Given the description of an element on the screen output the (x, y) to click on. 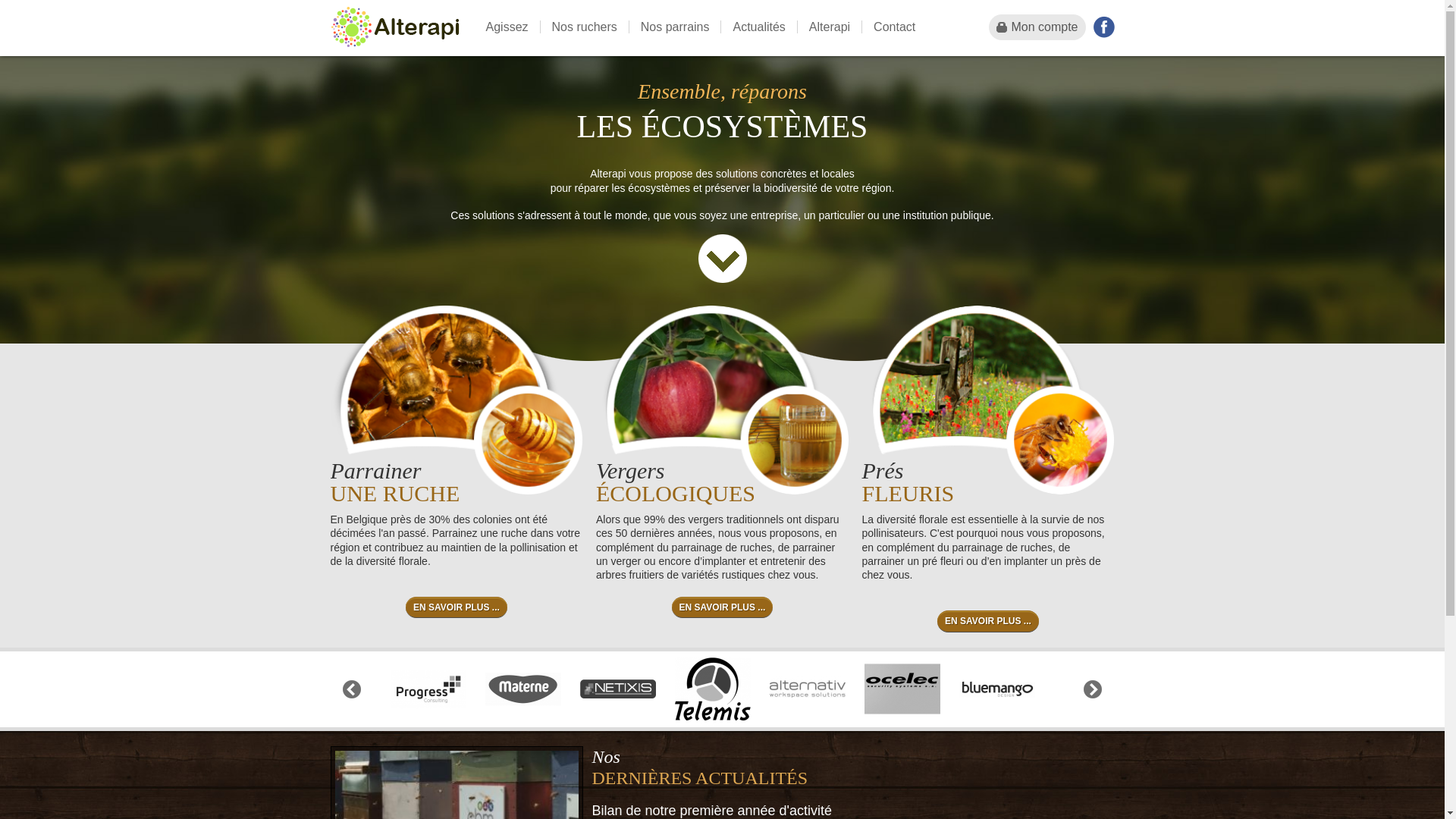
netixis Element type: hover (617, 689)
materne Element type: hover (523, 689)
Nos ruchers Element type: text (583, 26)
EN SAVOIR PLUS ... Element type: text (987, 620)
progress-consulting Element type: hover (428, 689)
Previous Element type: text (351, 689)
alternativ Element type: hover (807, 689)
Nos parrains Element type: text (674, 26)
Facebook Element type: text (1103, 26)
Alterapi Element type: text (829, 26)
bluemango-design Element type: hover (997, 689)
EN SAVOIR PLUS ... Element type: text (456, 607)
Next Element type: text (1092, 689)
Mon compte Element type: text (1036, 27)
ocelec-security-systems-sa Element type: hover (902, 689)
telemis-sa Element type: hover (712, 689)
EN SAVOIR PLUS ... Element type: text (722, 607)
Accueil Element type: hover (394, 28)
Contact Element type: text (893, 26)
